Given the description of an element on the screen output the (x, y) to click on. 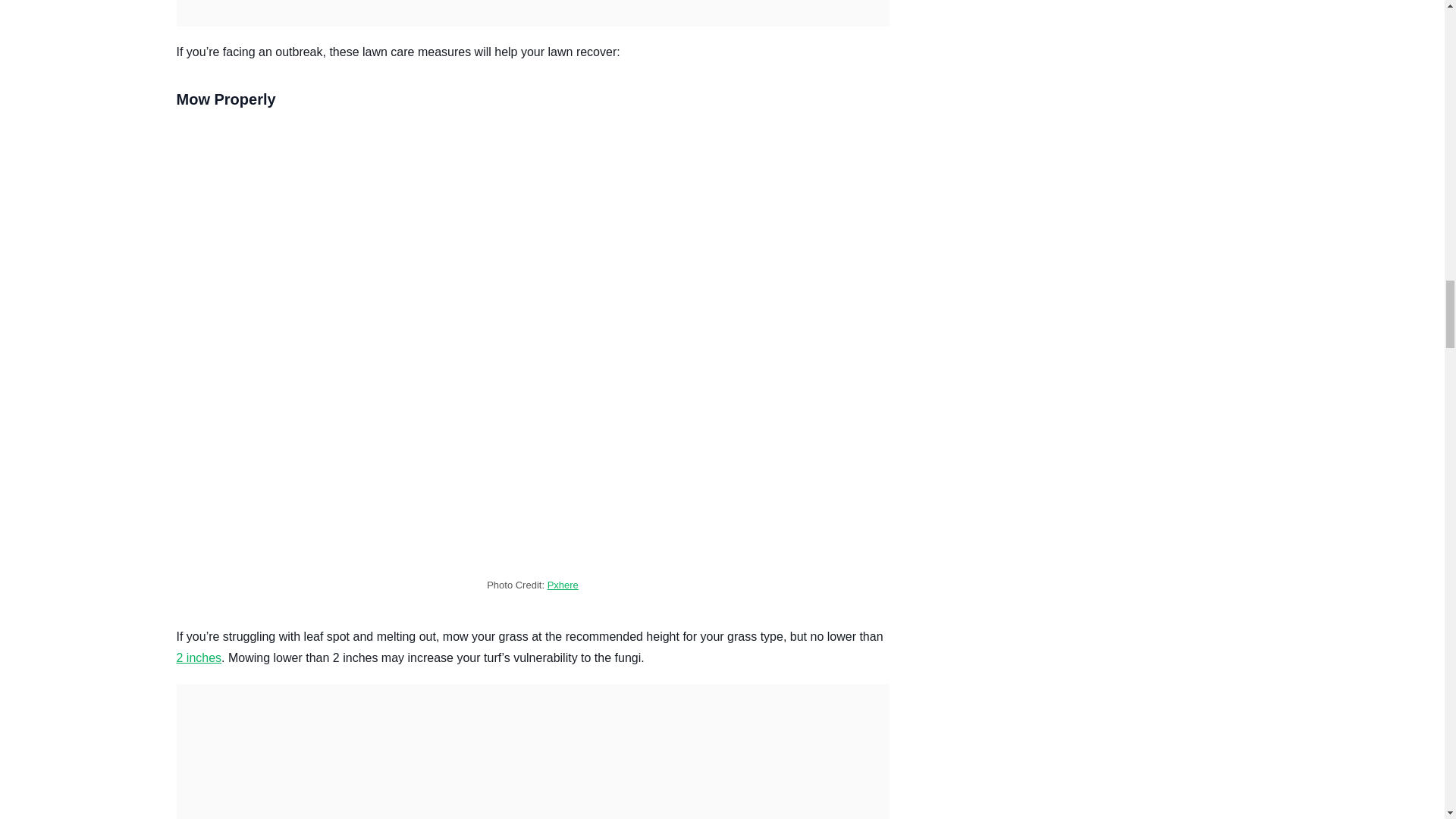
2 inches (198, 657)
Pxhere (562, 584)
